Given the description of an element on the screen output the (x, y) to click on. 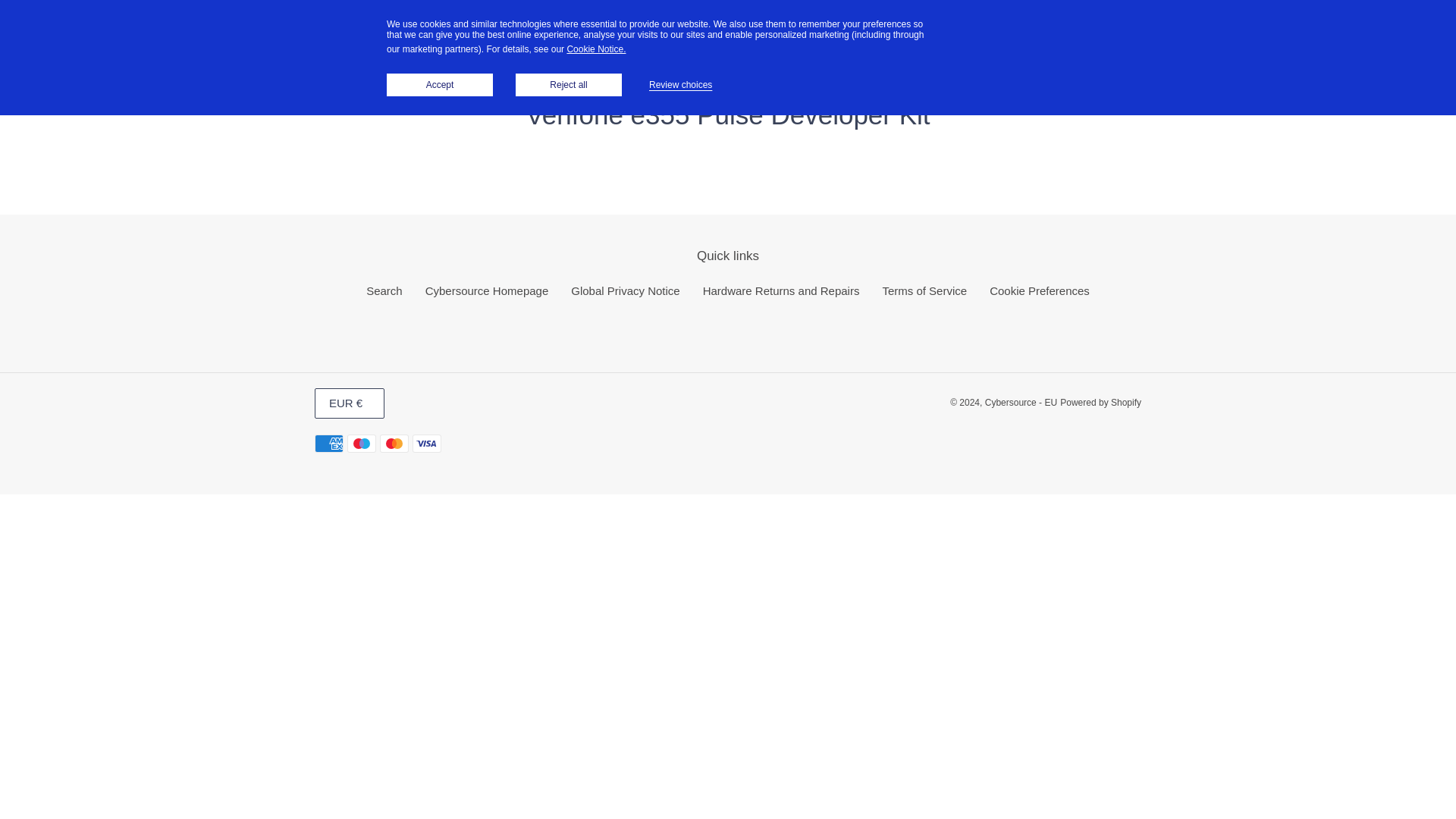
Accept (440, 84)
Log in (1366, 28)
Review choices (685, 84)
Terms of Service (924, 290)
Cookie Preferences (1039, 290)
Cart (1397, 28)
Cybersource - EU (1021, 402)
Search (384, 290)
Cybersource Homepage (486, 290)
Powered by Shopify (1100, 402)
